Given the description of an element on the screen output the (x, y) to click on. 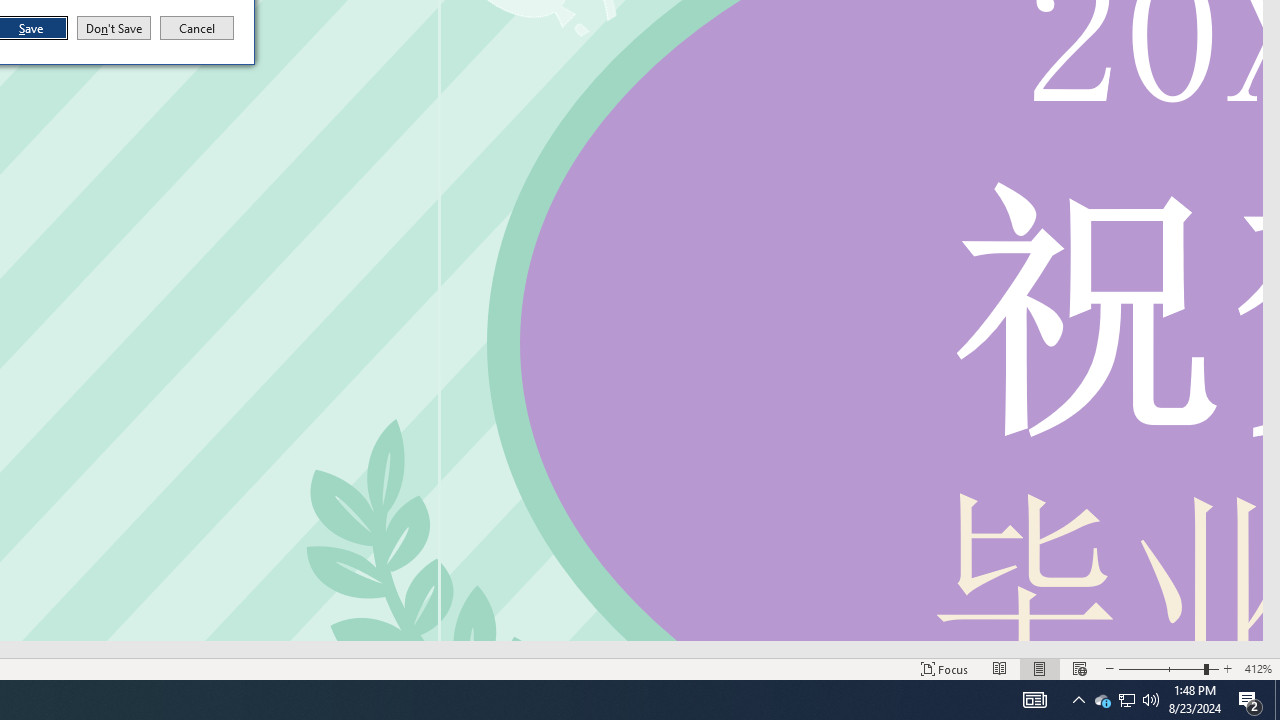
Cancel (197, 27)
User Promoted Notification Area (1126, 699)
Action Center, 2 new notifications (1250, 699)
Don't Save (113, 27)
AutomationID: 4105 (1034, 699)
Show desktop (1277, 699)
Q2790: 100% (1151, 699)
Notification Chevron (1078, 699)
